Given the description of an element on the screen output the (x, y) to click on. 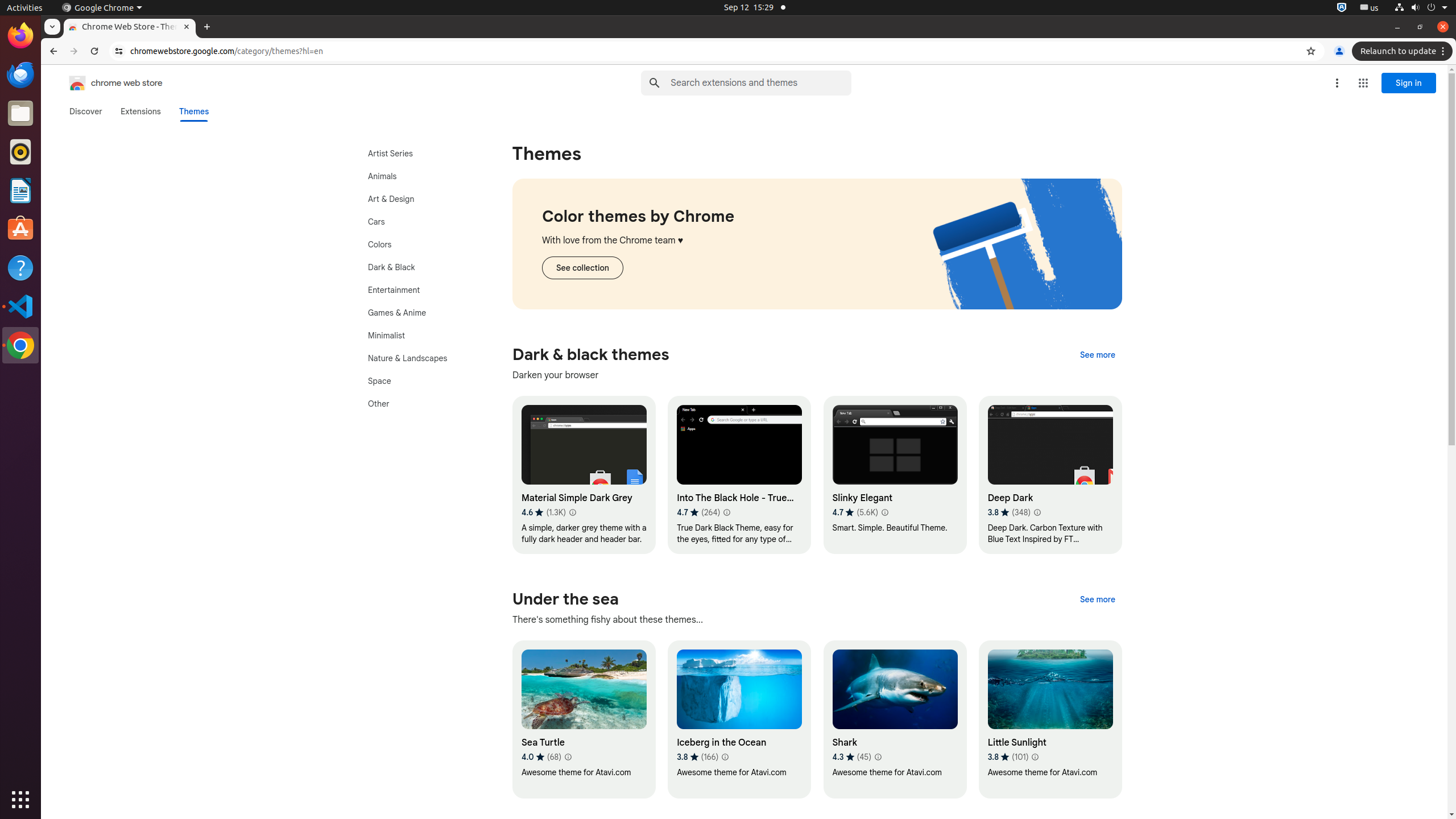
Google apps Element type: push-button (1362, 82)
:1.21/StatusNotifierItem Element type: menu (1369, 7)
More options menu Element type: push-button (1336, 82)
Minimalist Element type: menu-item (419, 335)
Sea Turtle Element type: link (583, 719)
